Given the description of an element on the screen output the (x, y) to click on. 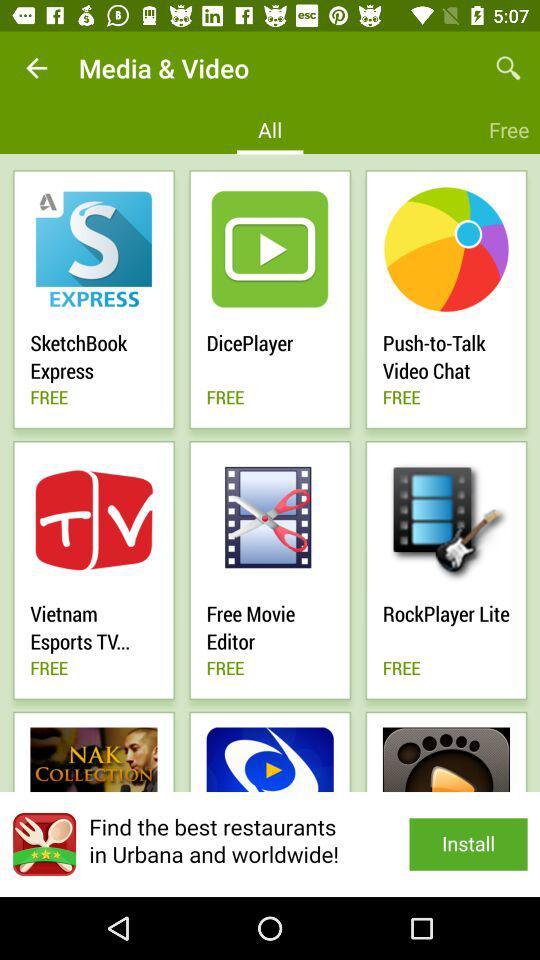
install a new app (270, 844)
